Given the description of an element on the screen output the (x, y) to click on. 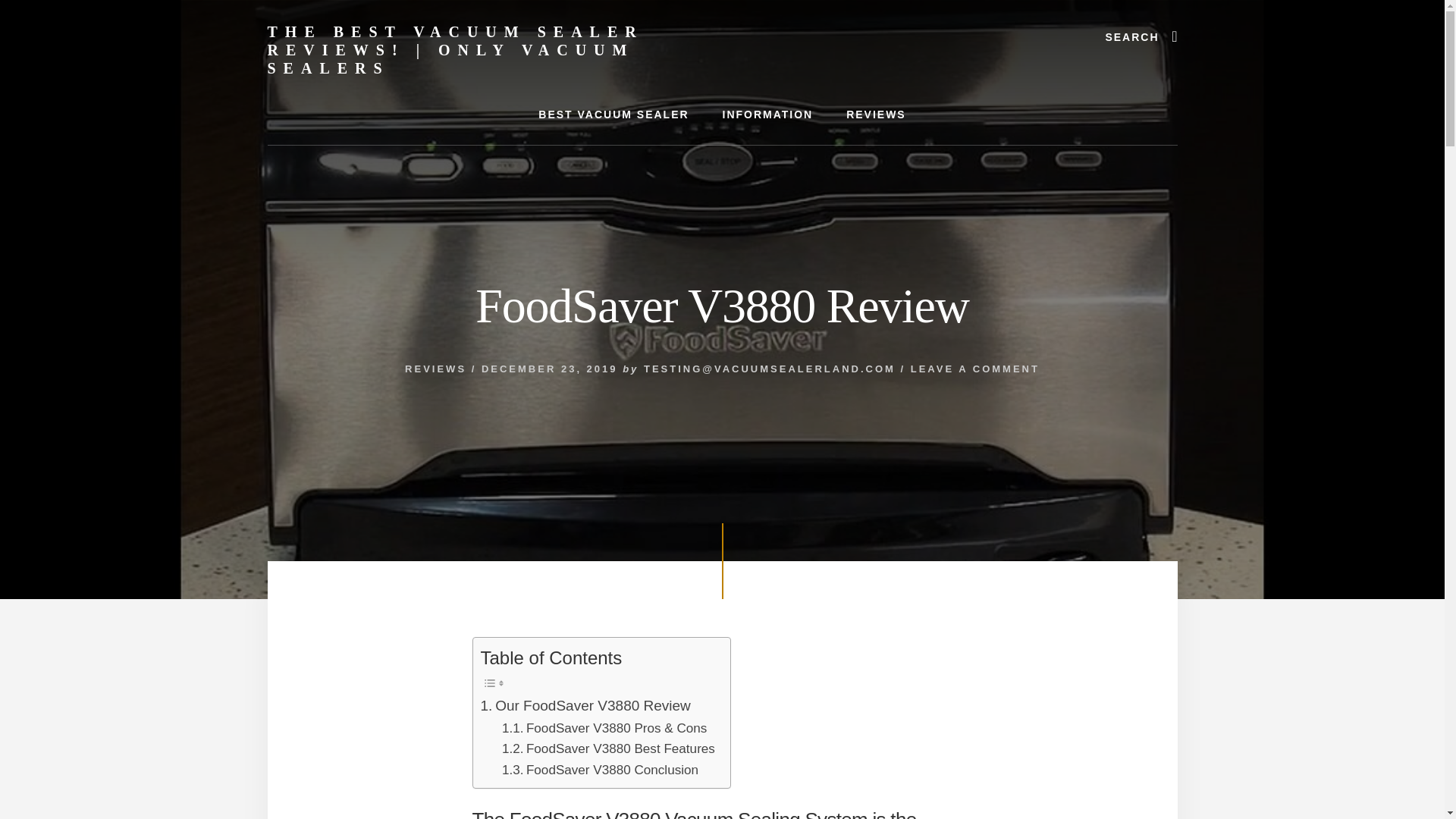
REVIEWS (876, 114)
FoodSaver V3880 Conclusion (600, 770)
INFORMATION (767, 114)
BEST VACUUM SEALER (612, 114)
FoodSaver V3880 Best Features (608, 748)
Our FoodSaver V3880 Review (585, 705)
